Given the description of an element on the screen output the (x, y) to click on. 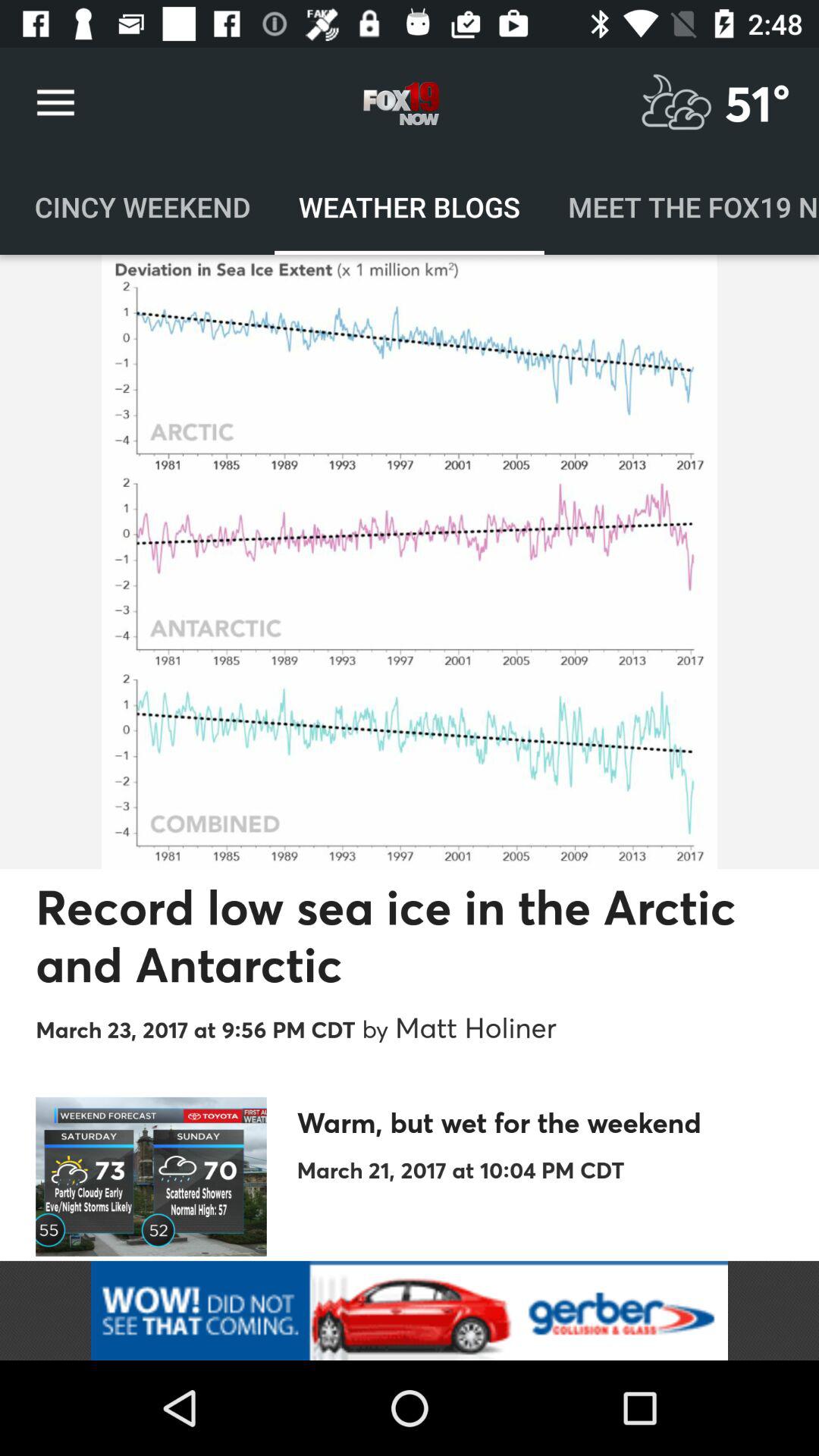
go to advertisement link (409, 1310)
